Given the description of an element on the screen output the (x, y) to click on. 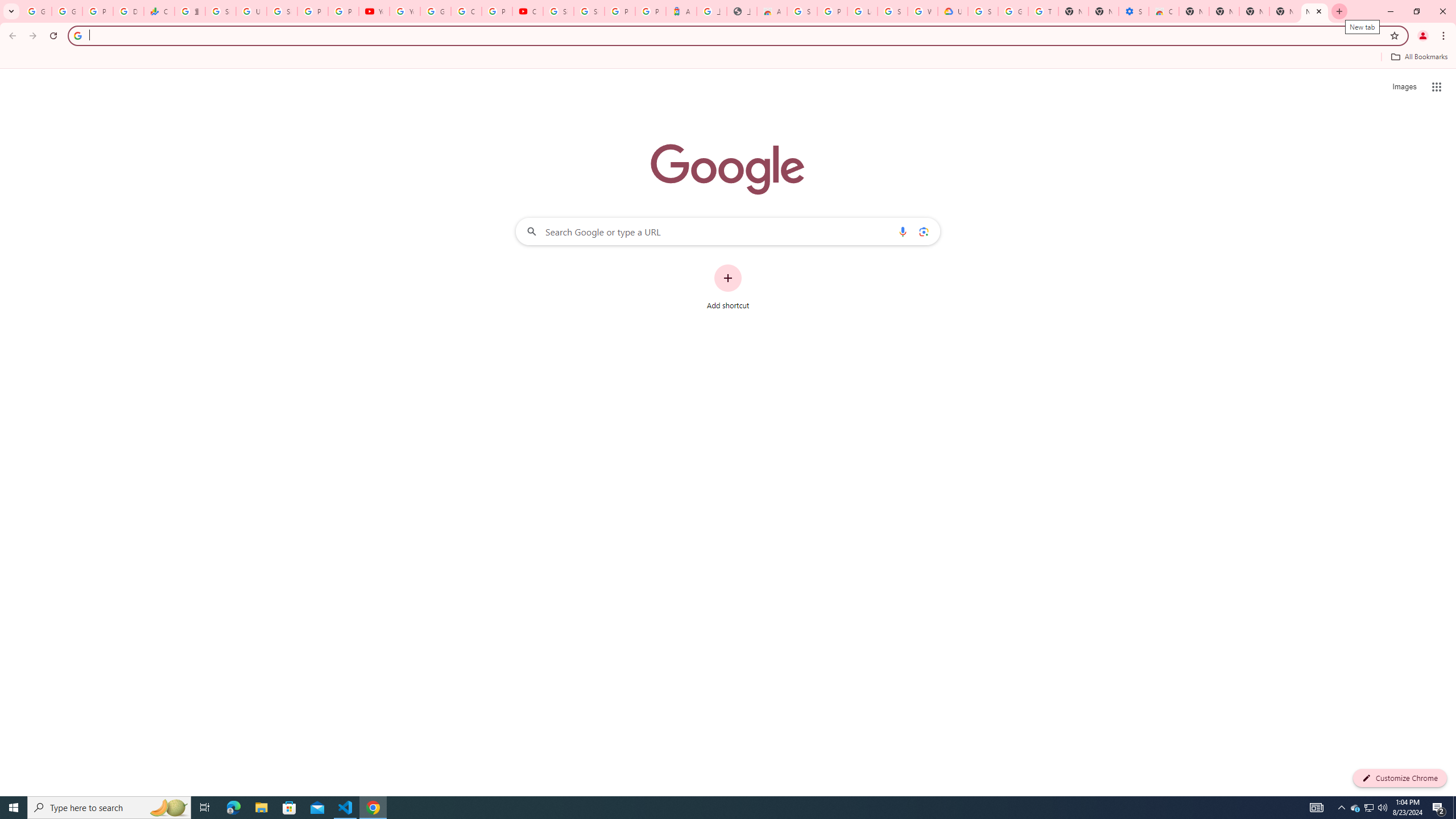
Sign in - Google Accounts (589, 11)
